Given the description of an element on the screen output the (x, y) to click on. 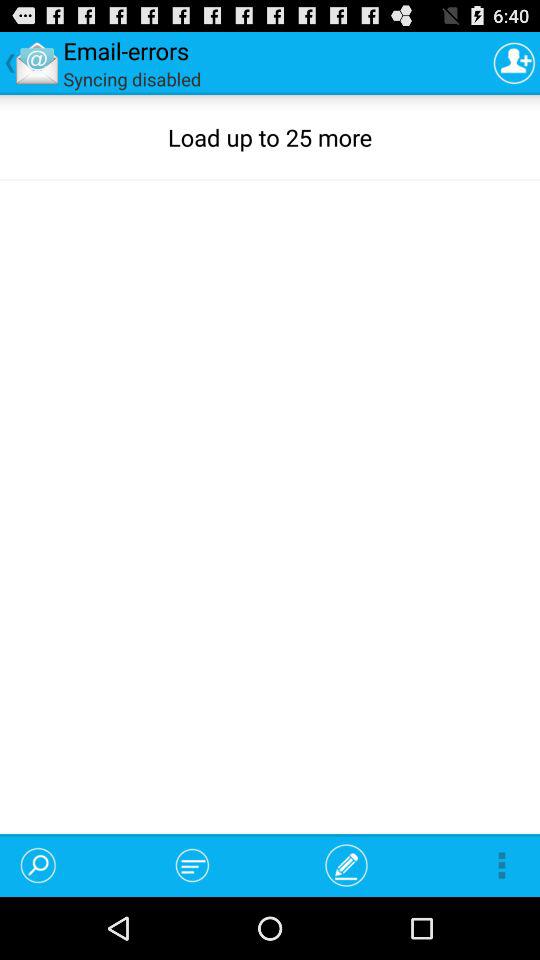
open the app next to the syncing disabled (514, 62)
